Given the description of an element on the screen output the (x, y) to click on. 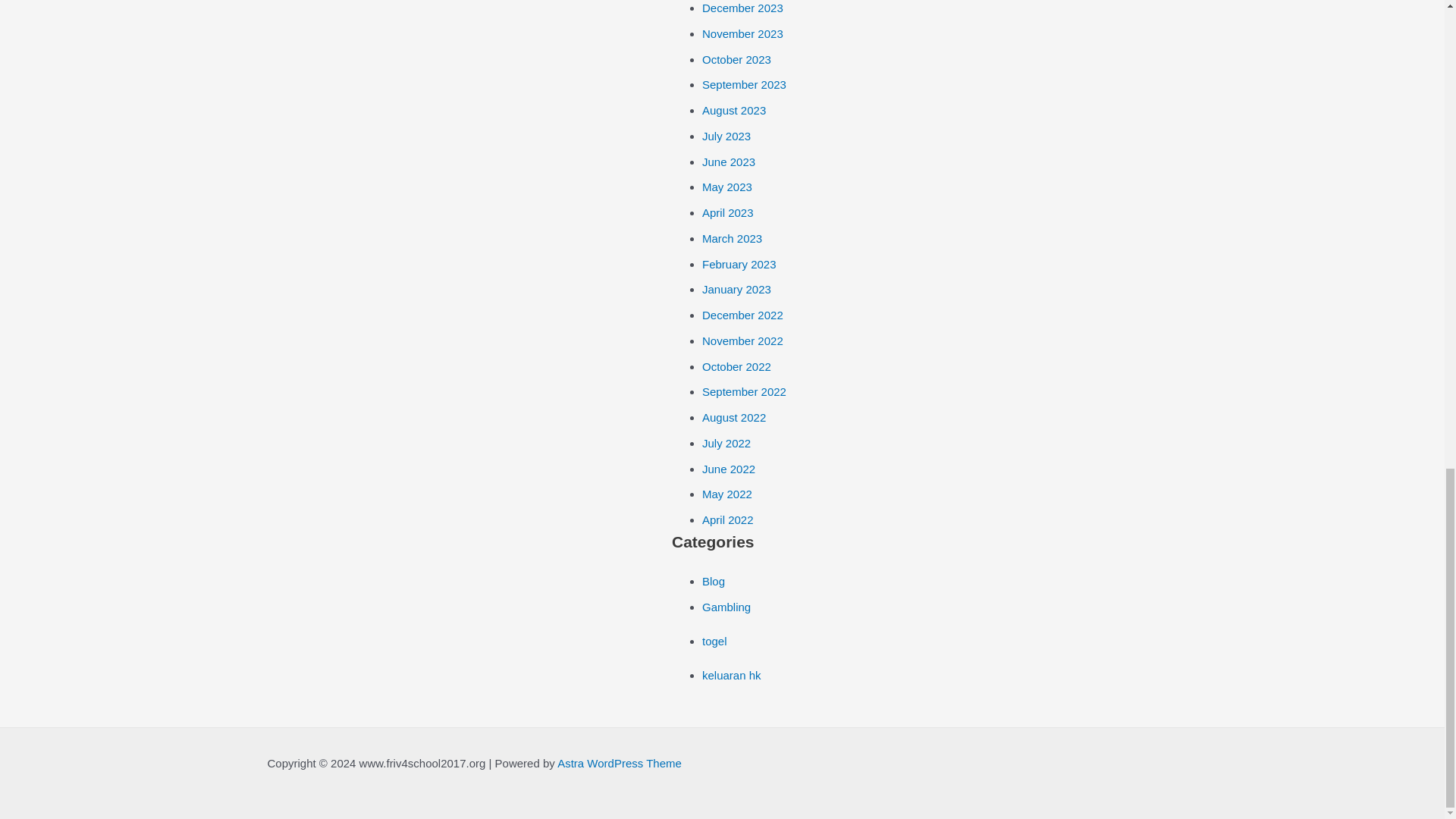
June 2023 (728, 161)
November 2023 (742, 33)
December 2023 (742, 7)
December 2022 (742, 314)
July 2023 (726, 135)
April 2023 (727, 212)
November 2022 (742, 340)
March 2023 (731, 237)
February 2023 (738, 264)
May 2023 (726, 186)
